Given the description of an element on the screen output the (x, y) to click on. 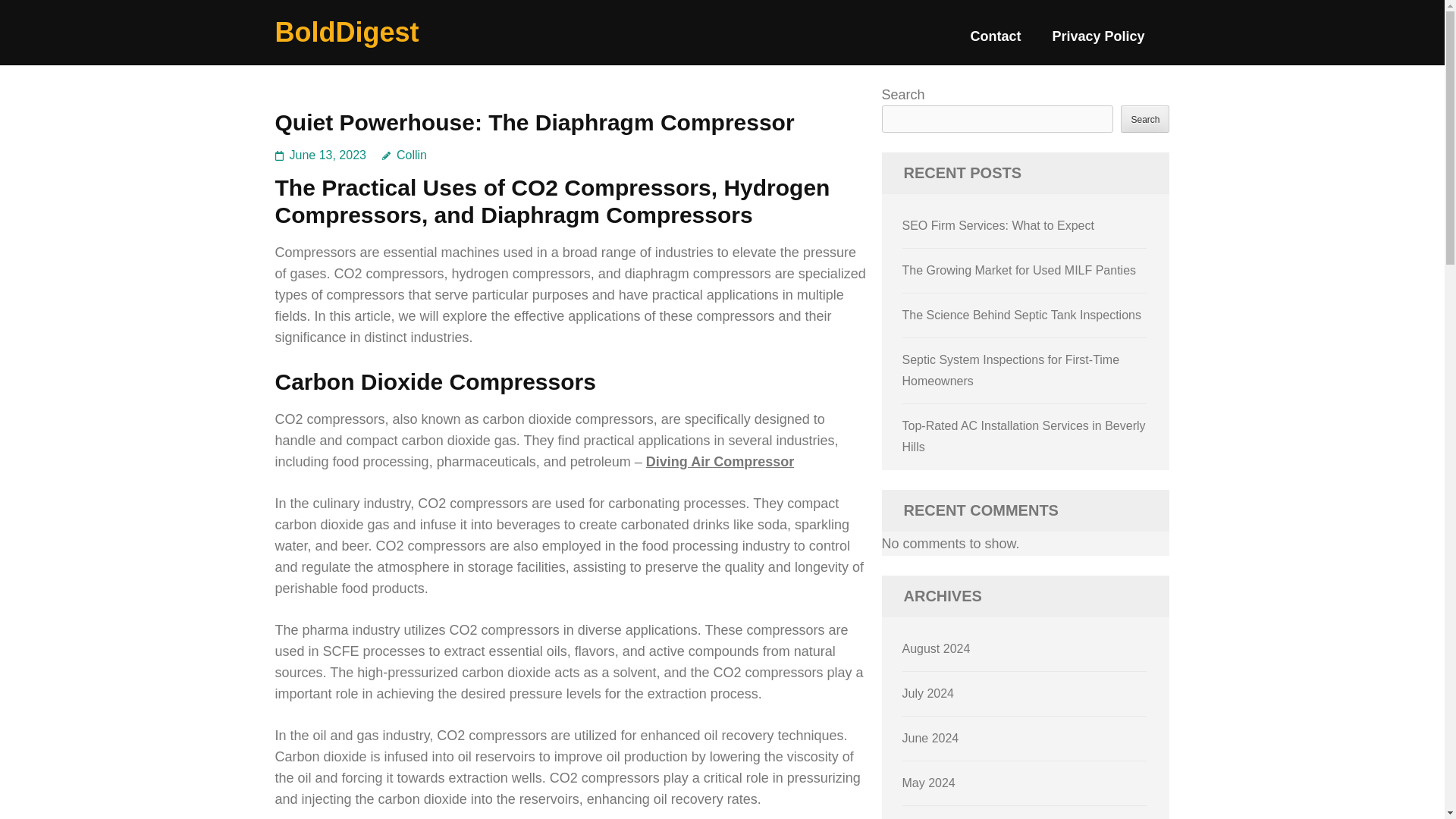
Top-Rated AC Installation Services in Beverly Hills (1023, 346)
Grease Trap Pumping: A Comprehensive Guide (1012, 412)
June 2024 (930, 735)
Contact (994, 42)
May 2024 (928, 780)
Diving Air Compressor (719, 461)
July 2024 (928, 690)
Professional vs. DIY Septic Grease Trap Cleaning (1010, 478)
BoldDigest (347, 31)
Septic System Inspections for First-Time Homeowners (1010, 280)
